Given the description of an element on the screen output the (x, y) to click on. 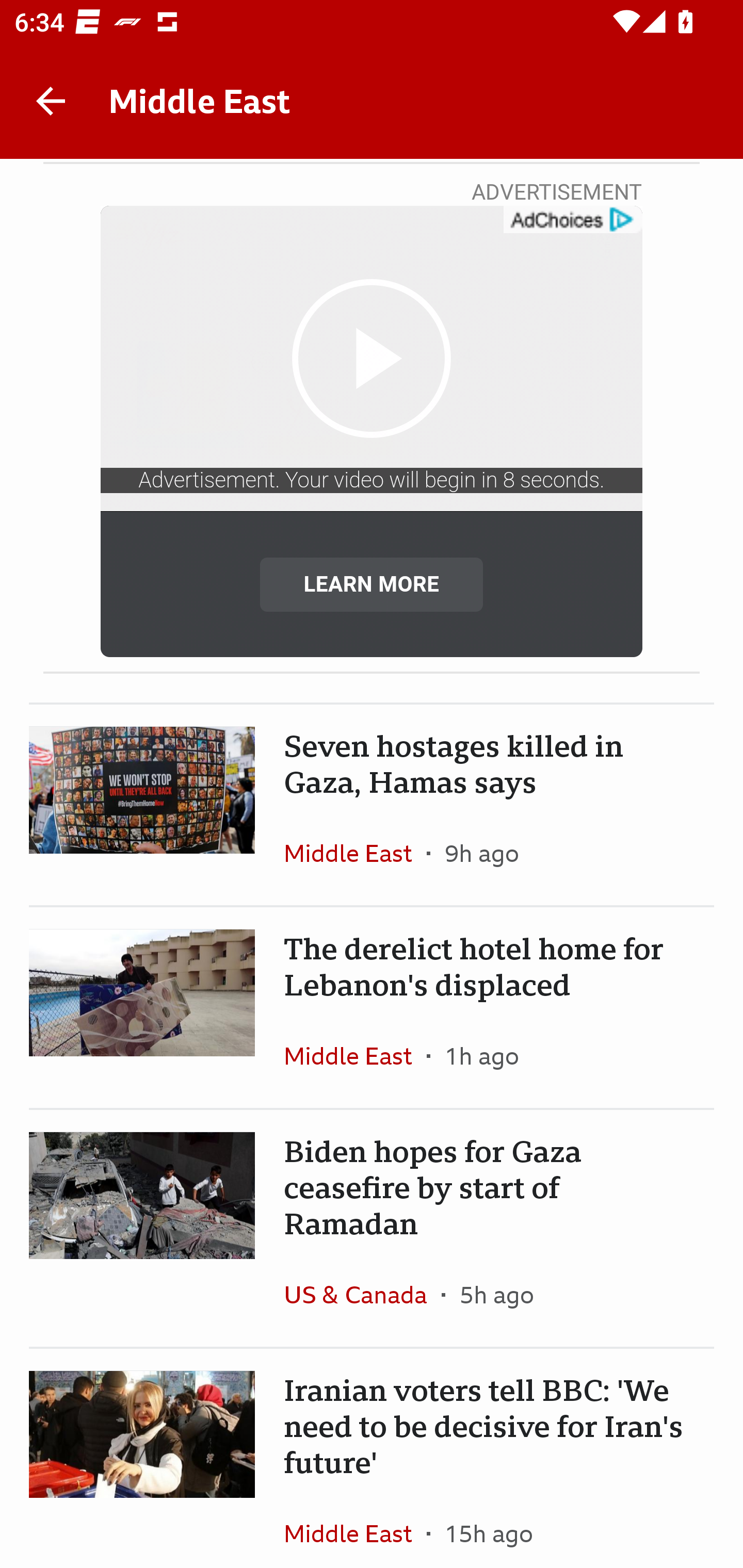
Back (50, 101)
get?name=admarker-full-tl (571, 220)
LEARN MORE (371, 583)
Middle East In the section Middle East (354, 852)
Middle East In the section Middle East (354, 1055)
US & Canada In the section US & Canada (362, 1293)
Middle East In the section Middle East (354, 1524)
